Given the description of an element on the screen output the (x, y) to click on. 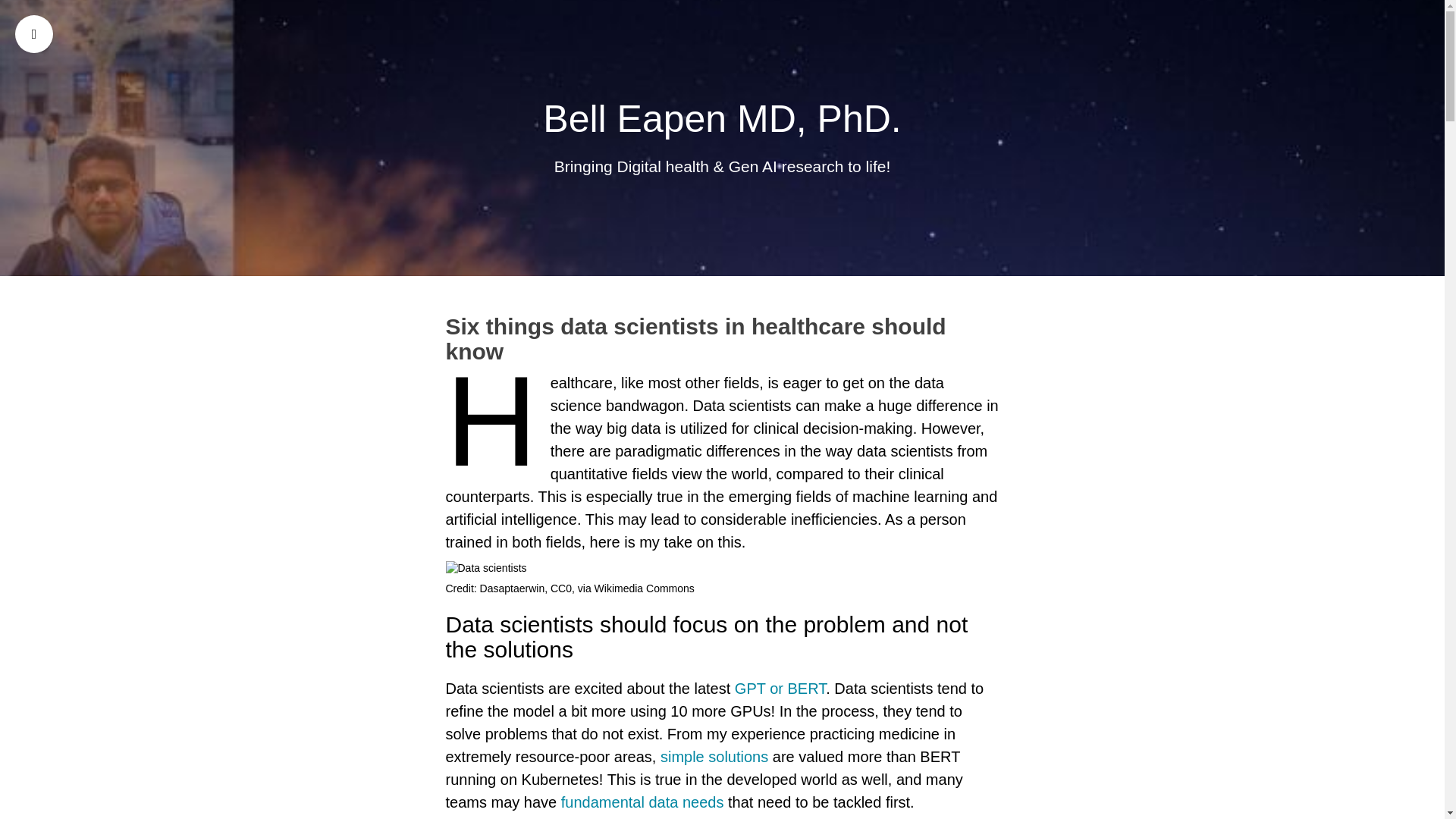
simple solutions (714, 756)
GPT or BERT (780, 688)
fundamental data needs (641, 801)
Bell Eapen MD, PhD. (722, 118)
Six things data scientists in healthcare should know (721, 338)
